Given the description of an element on the screen output the (x, y) to click on. 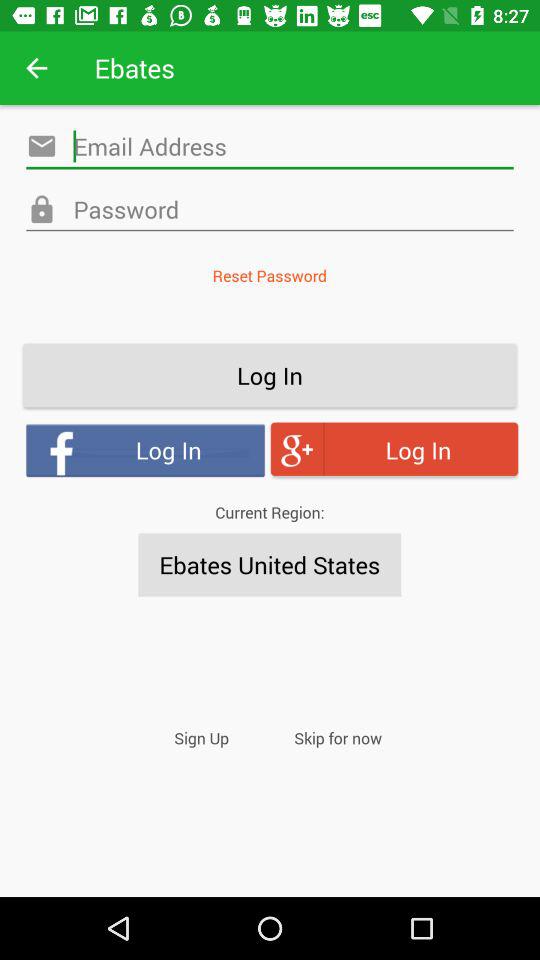
enter email address (270, 209)
